Given the description of an element on the screen output the (x, y) to click on. 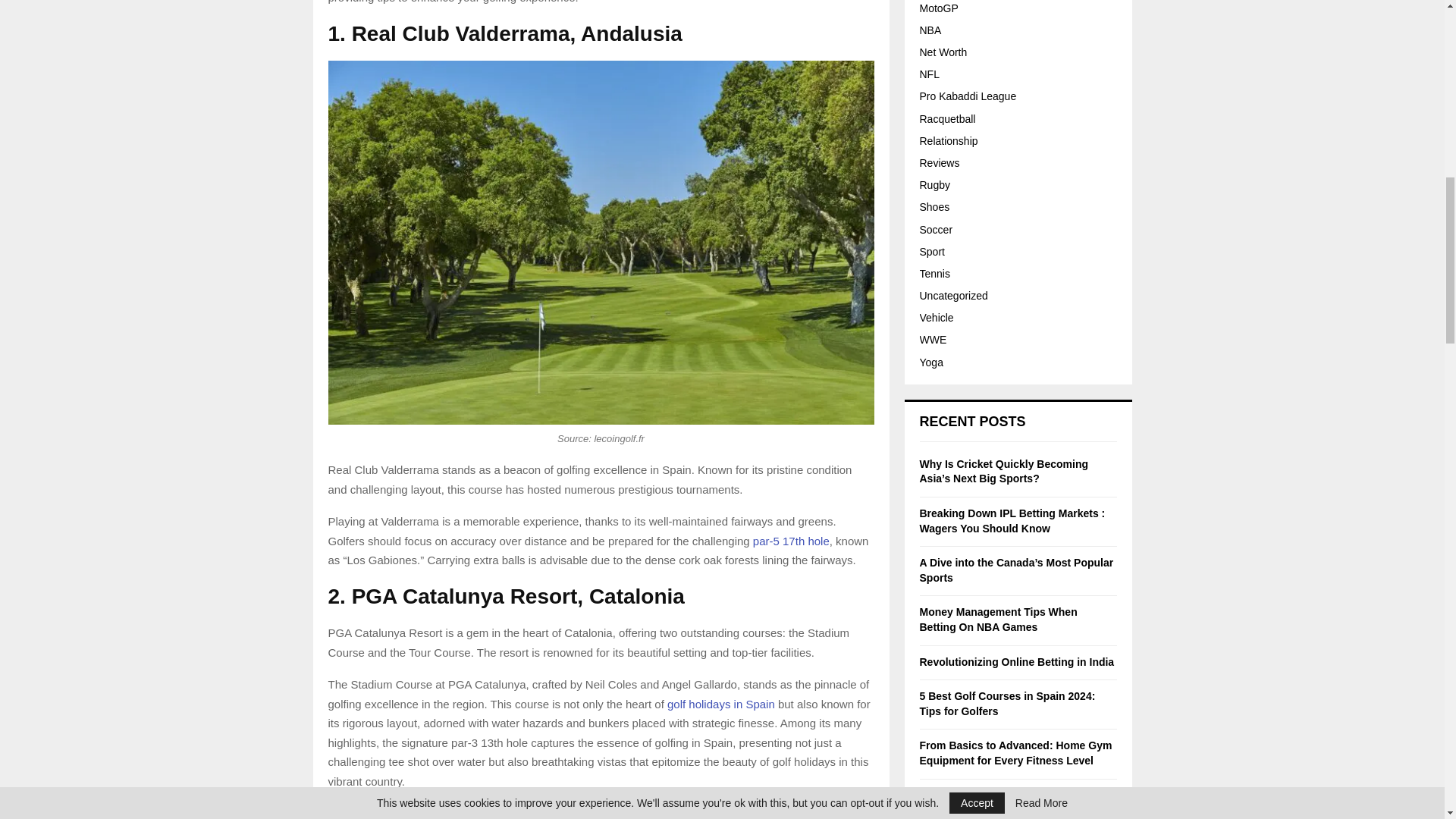
golf holidays in Spain (720, 703)
par-5 17th hole (790, 540)
